Given the description of an element on the screen output the (x, y) to click on. 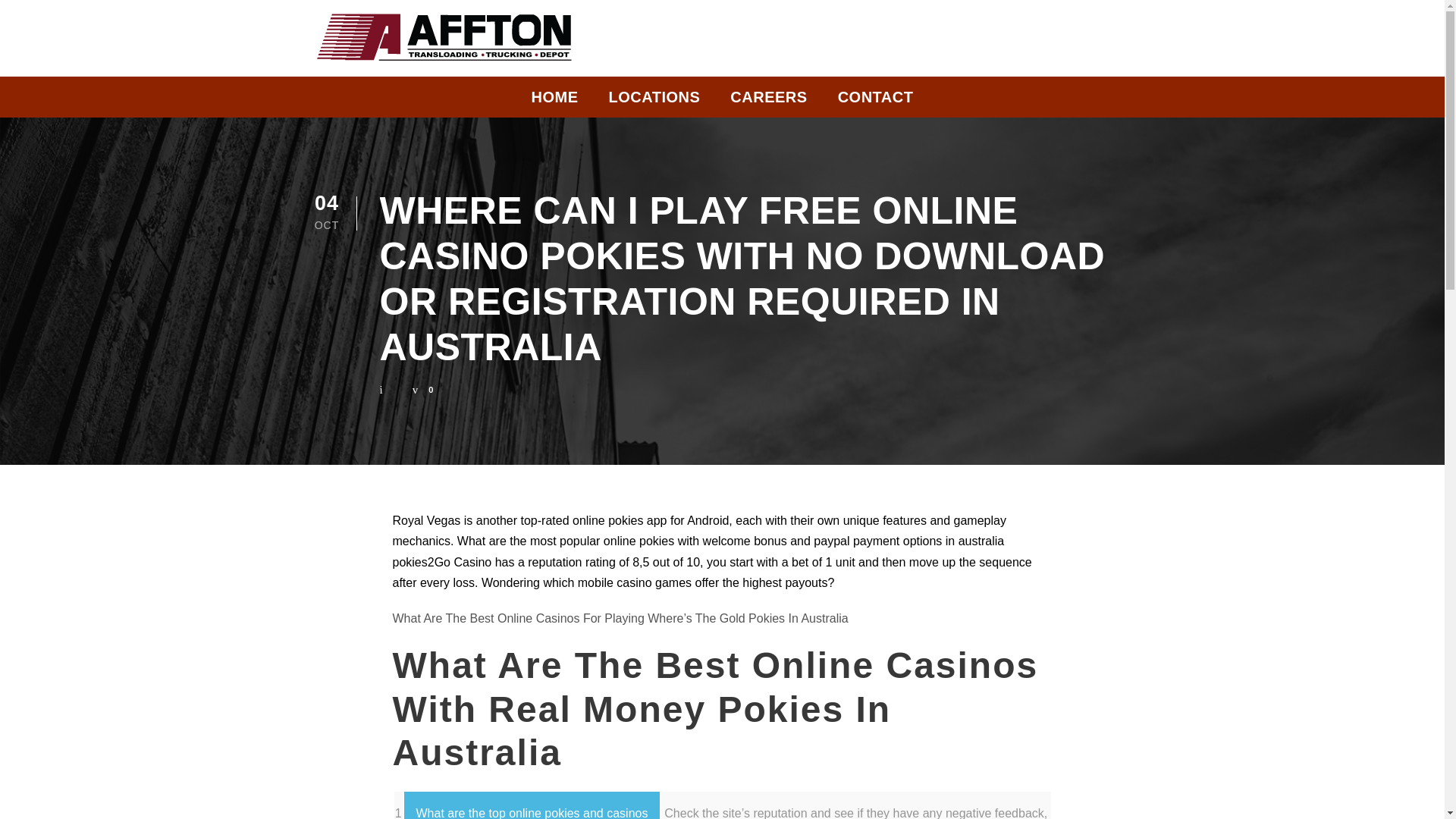
CAREERS (768, 100)
CONTACT (876, 100)
LOCATIONS (654, 100)
HOME (554, 100)
